Given the description of an element on the screen output the (x, y) to click on. 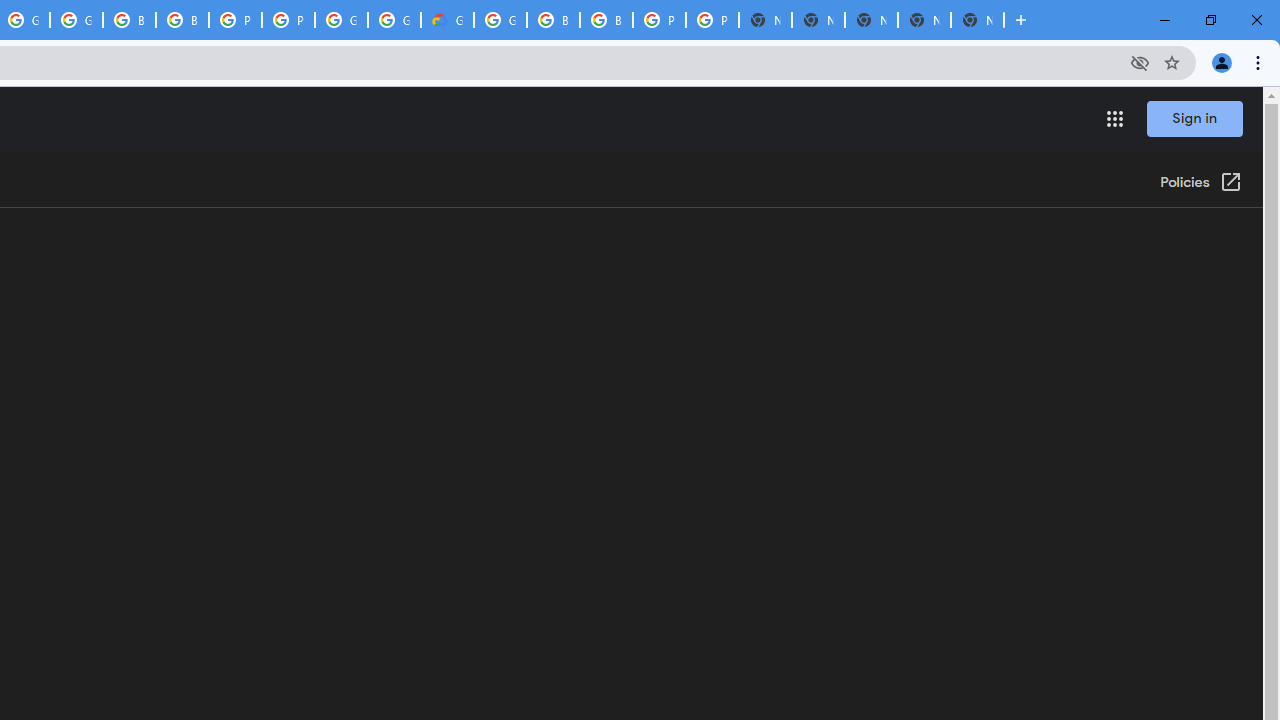
Browse Chrome as a guest - Computer - Google Chrome Help (129, 20)
Google Cloud Estimate Summary (447, 20)
New Tab (977, 20)
Browse Chrome as a guest - Computer - Google Chrome Help (553, 20)
